Given the description of an element on the screen output the (x, y) to click on. 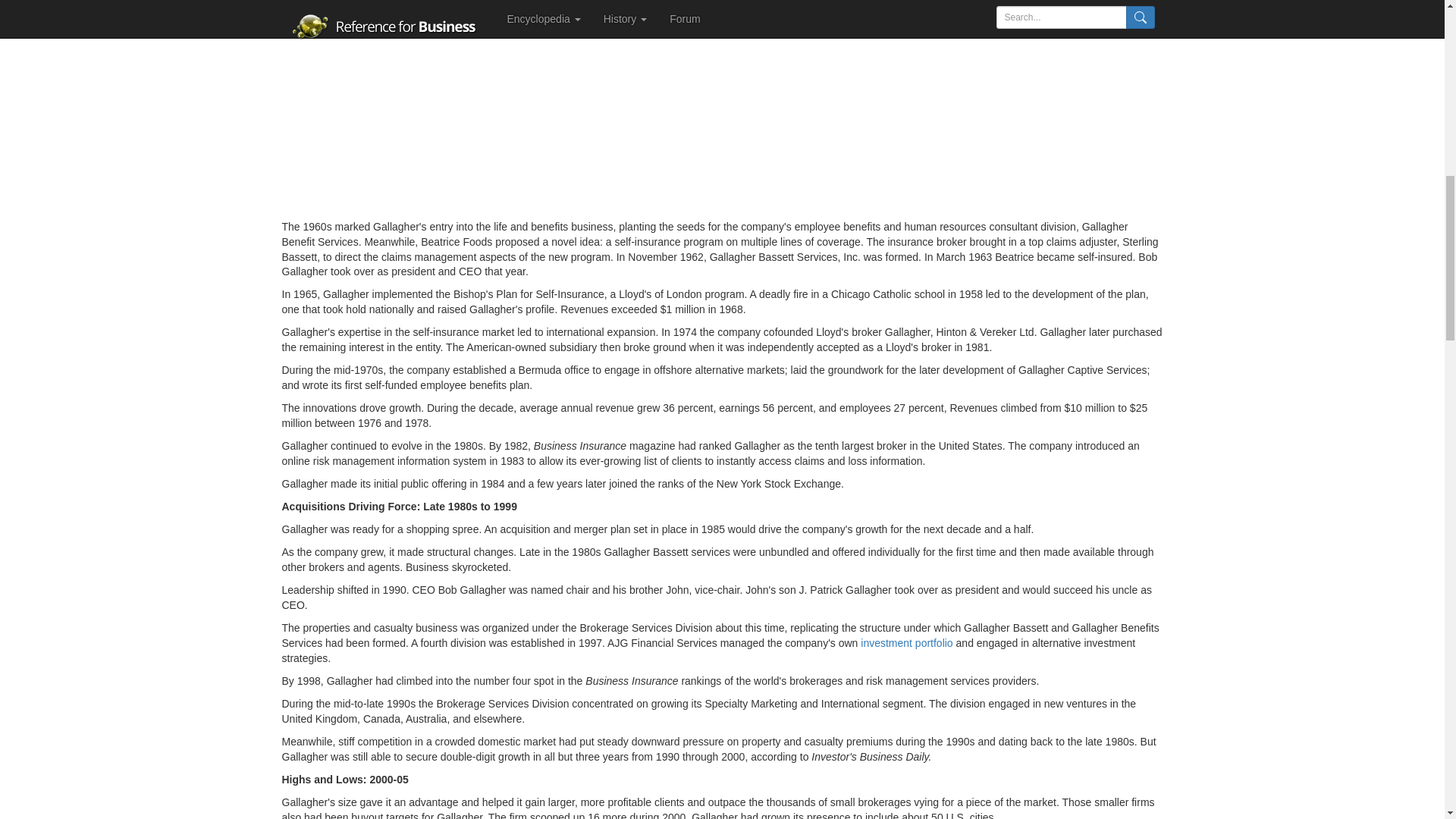
View 'investment portfolio' definition from Wikipedia (906, 643)
investment portfolio (906, 643)
